Given the description of an element on the screen output the (x, y) to click on. 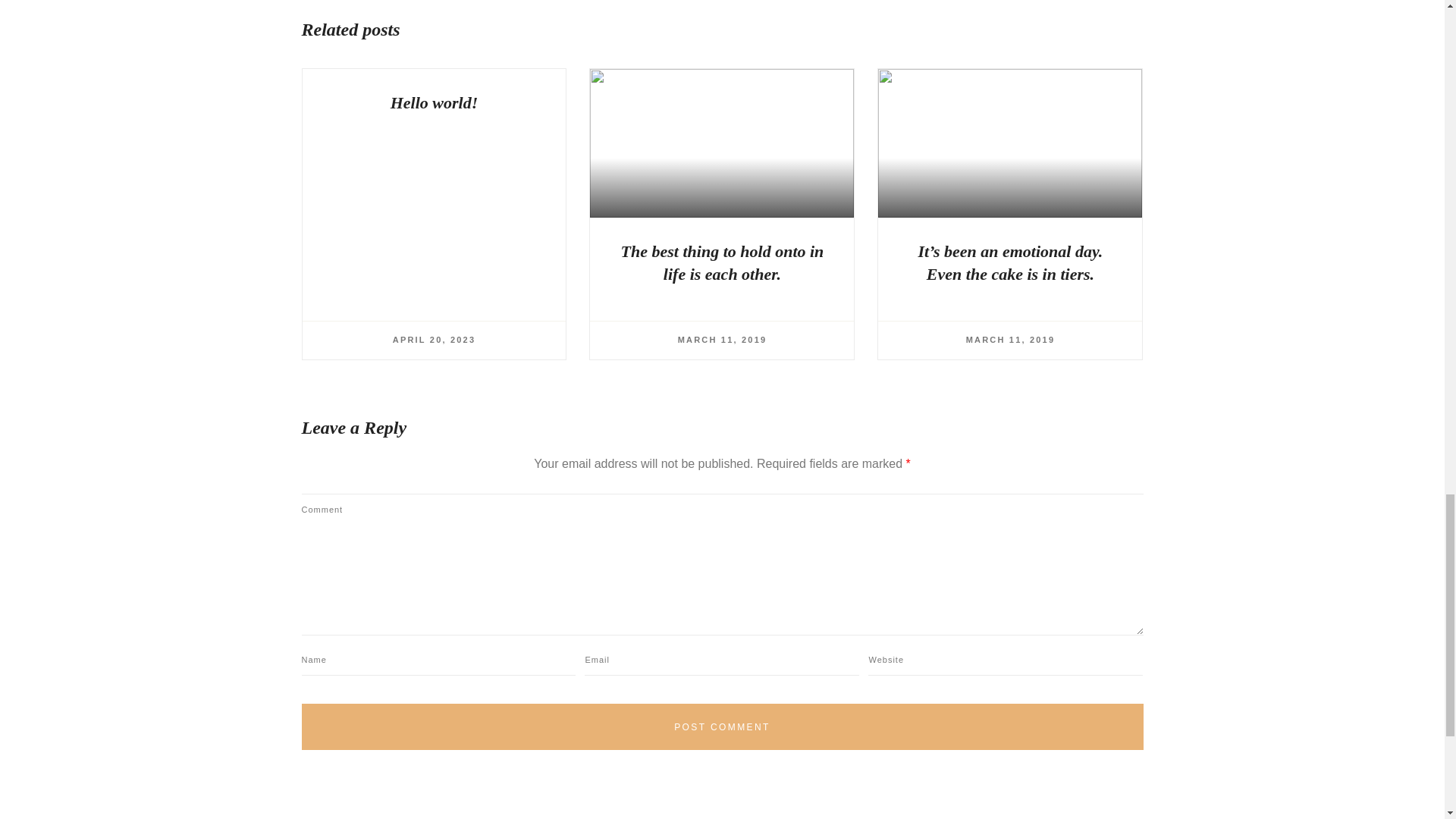
Post Comment (721, 726)
